Given the description of an element on the screen output the (x, y) to click on. 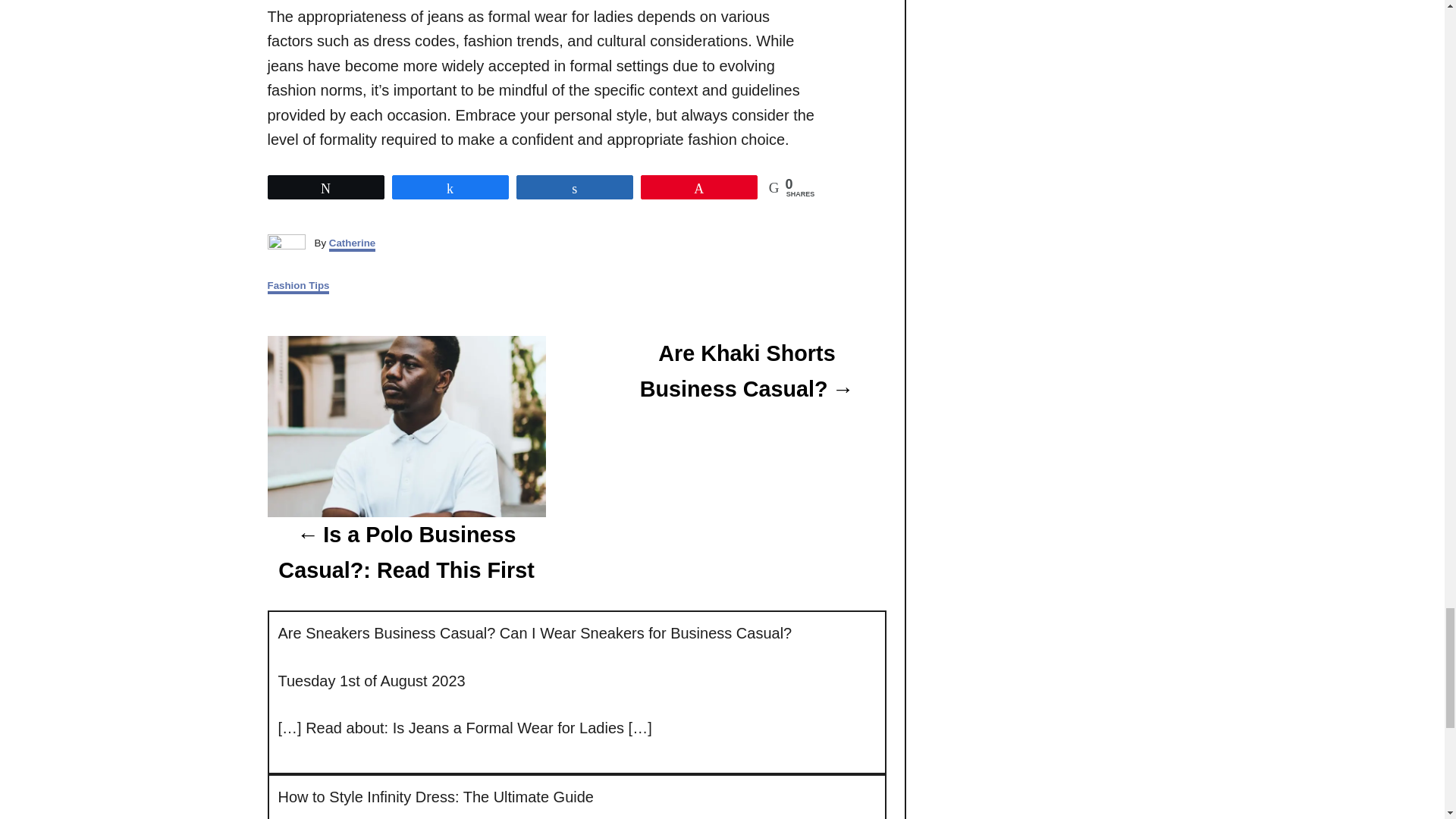
Catherine (352, 244)
Are Khaki Shorts Business Casual? (746, 371)
Fashion Tips (297, 287)
Is a Polo Business Casual?: Read This First (405, 552)
